Given the description of an element on the screen output the (x, y) to click on. 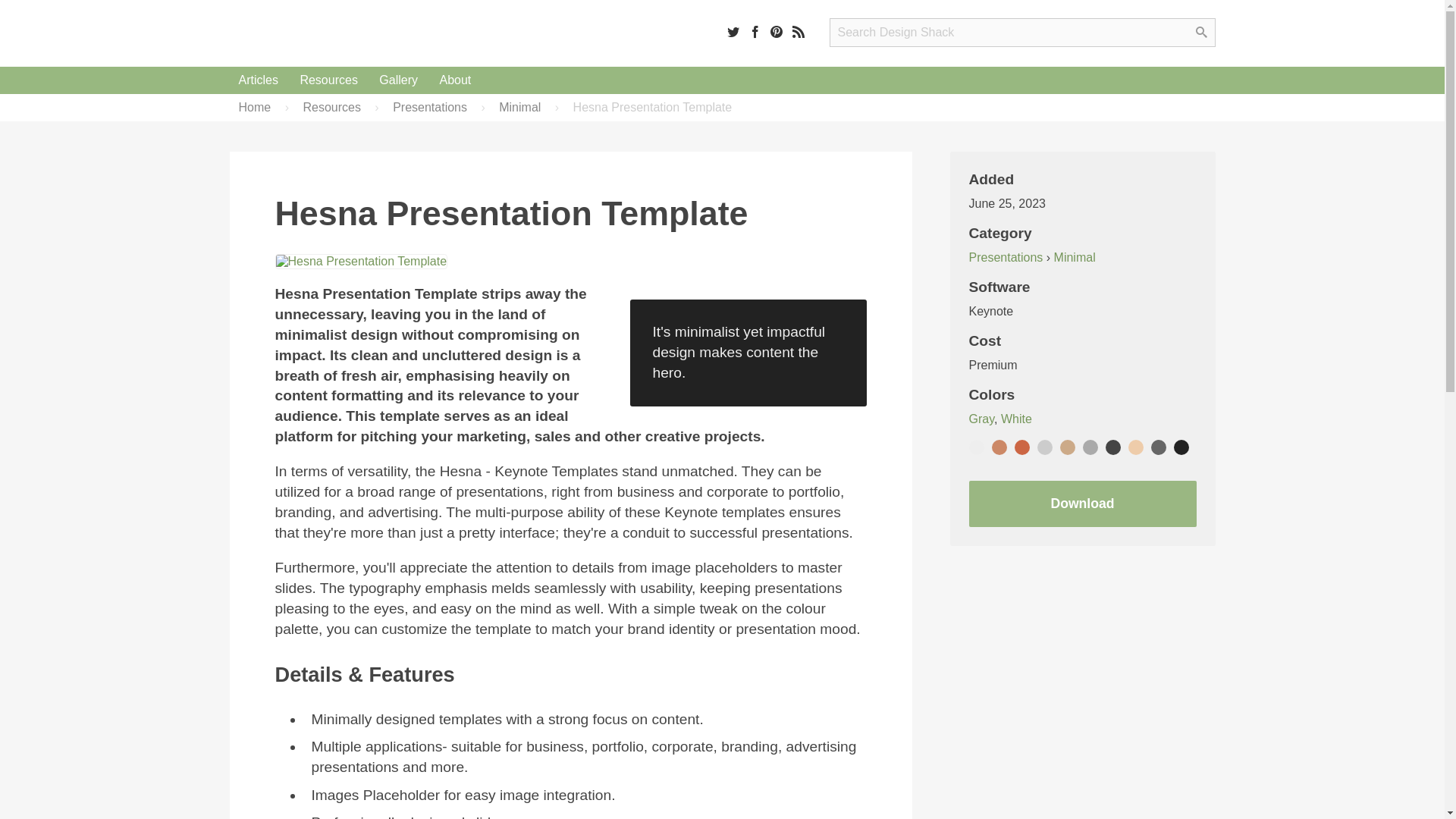
Articles (257, 80)
Pinterest (776, 31)
Search Design Shack (1022, 32)
Design Shack (326, 34)
Facebook (755, 31)
Articles (257, 80)
RSS Feed (797, 31)
Search Design Shack (1022, 32)
